Given the description of an element on the screen output the (x, y) to click on. 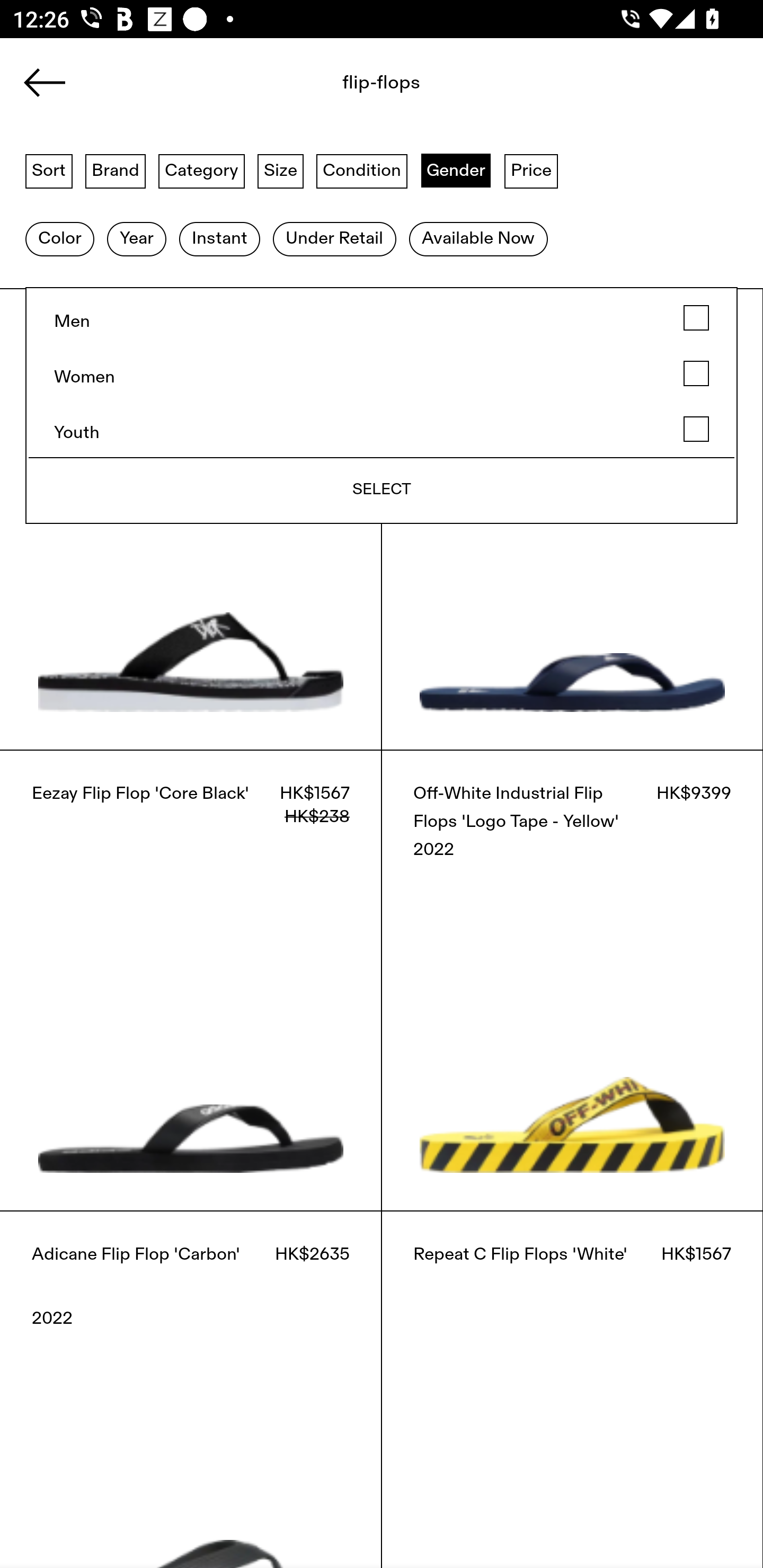
Search (340, 88)
Air Jordan 5 Retro 'Olive' 2024  (153, 168)
Brand (115, 170)
Category (201, 170)
Size (280, 170)
Condition (361, 170)
Gender (455, 170)
Price (530, 170)
Color (59, 239)
Year (136, 239)
Instant (219, 239)
Under Retail (334, 239)
Available Now (477, 239)
Eezay Flip Flop 'Dark Blue' HK$1693 HK$238 (572, 518)
Men Women Youth SELECT (381, 405)
Eezay Flip Flop 'Core Black' HK$1567 HK$238 (190, 979)
Adicane Flip Flop 'Carbon' HK$2635 2022 (190, 1389)
Repeat C Flip Flops 'White' HK$1567 (572, 1389)
